Given the description of an element on the screen output the (x, y) to click on. 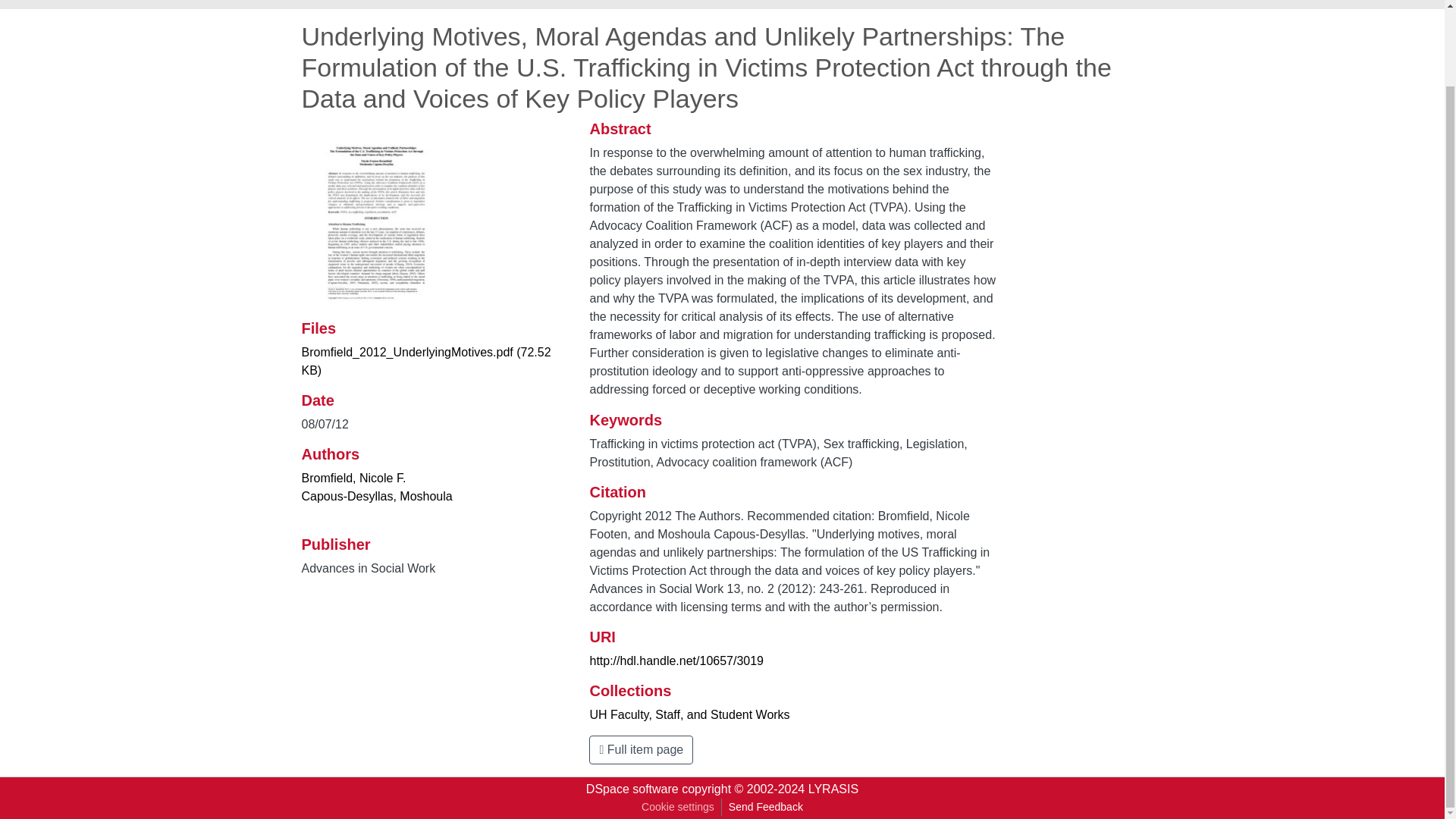
Full item page (641, 749)
LYRASIS (833, 788)
Bromfield, Nicole F. (353, 477)
Cookie settings (677, 806)
Send Feedback (765, 806)
UH Faculty, Staff, and Student Works (593, 1)
Home (317, 1)
UH Faculty, Staff, and Student Works (426, 1)
Capous-Desyllas, Moshoula (376, 495)
DSpace software (632, 788)
UH Faculty, Staff, and Student Works (689, 714)
